Given the description of an element on the screen output the (x, y) to click on. 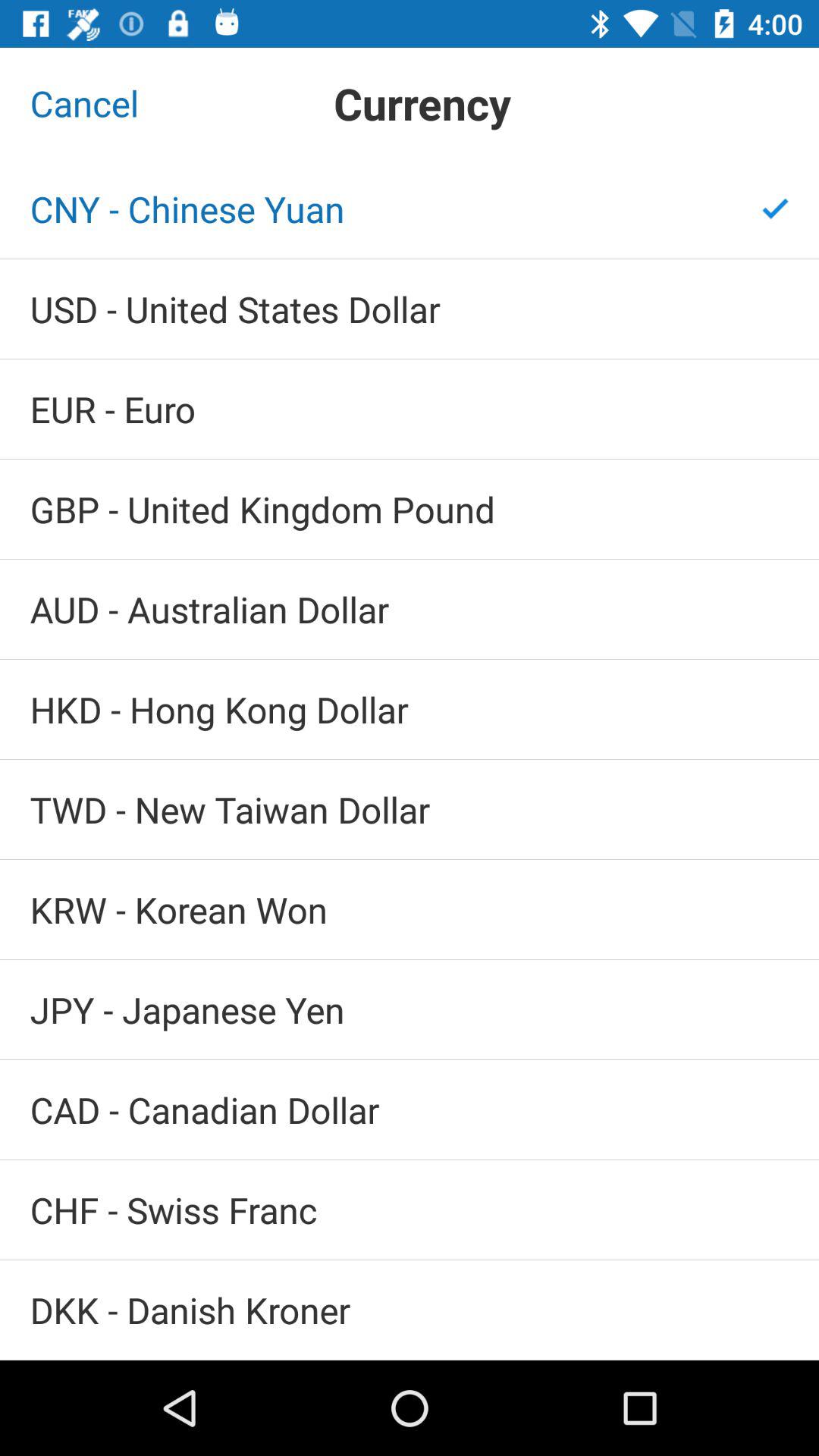
open the icon below eur - euro (409, 509)
